Given the description of an element on the screen output the (x, y) to click on. 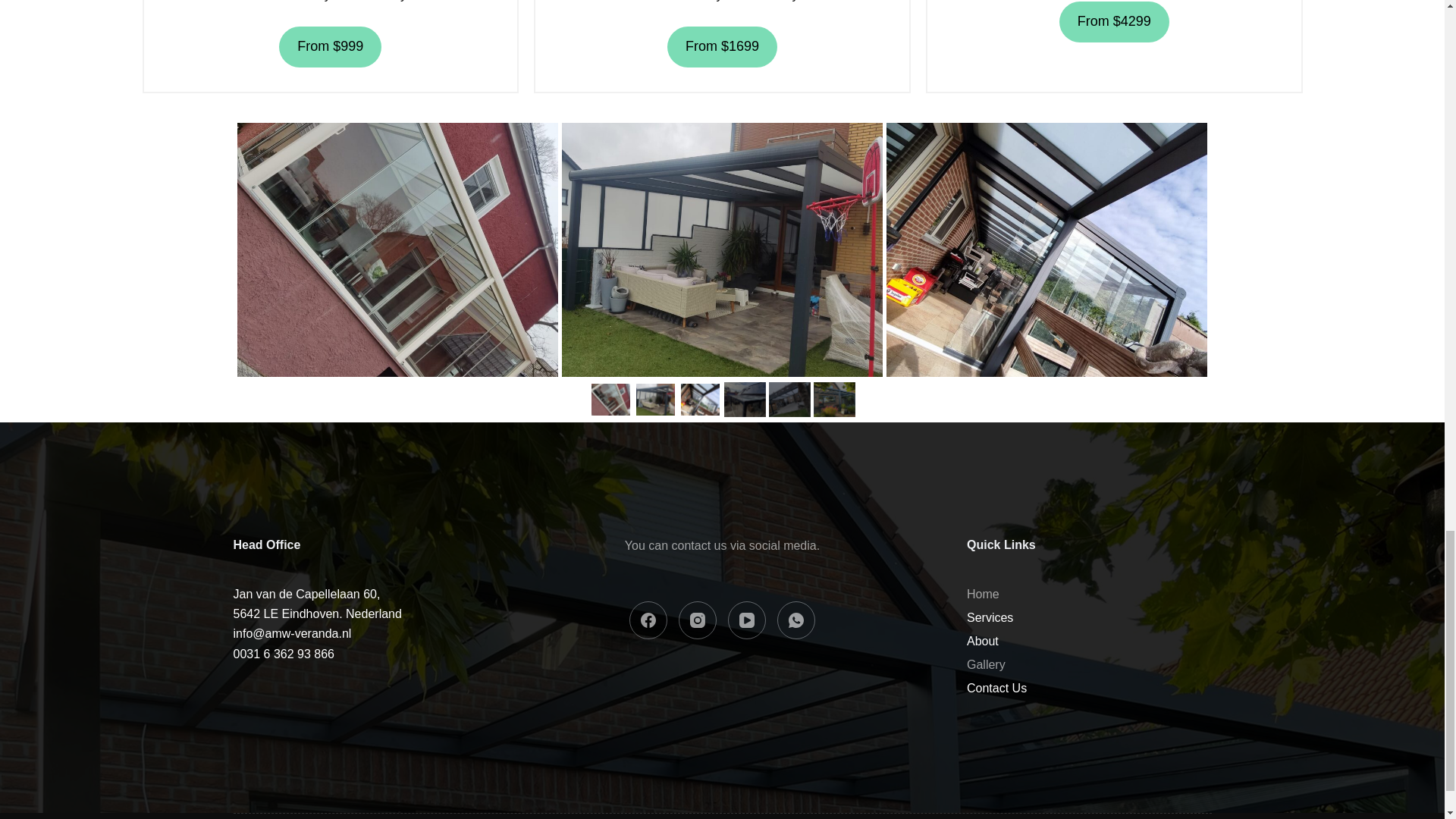
0031 6 362 93 866 (316, 603)
